Given the description of an element on the screen output the (x, y) to click on. 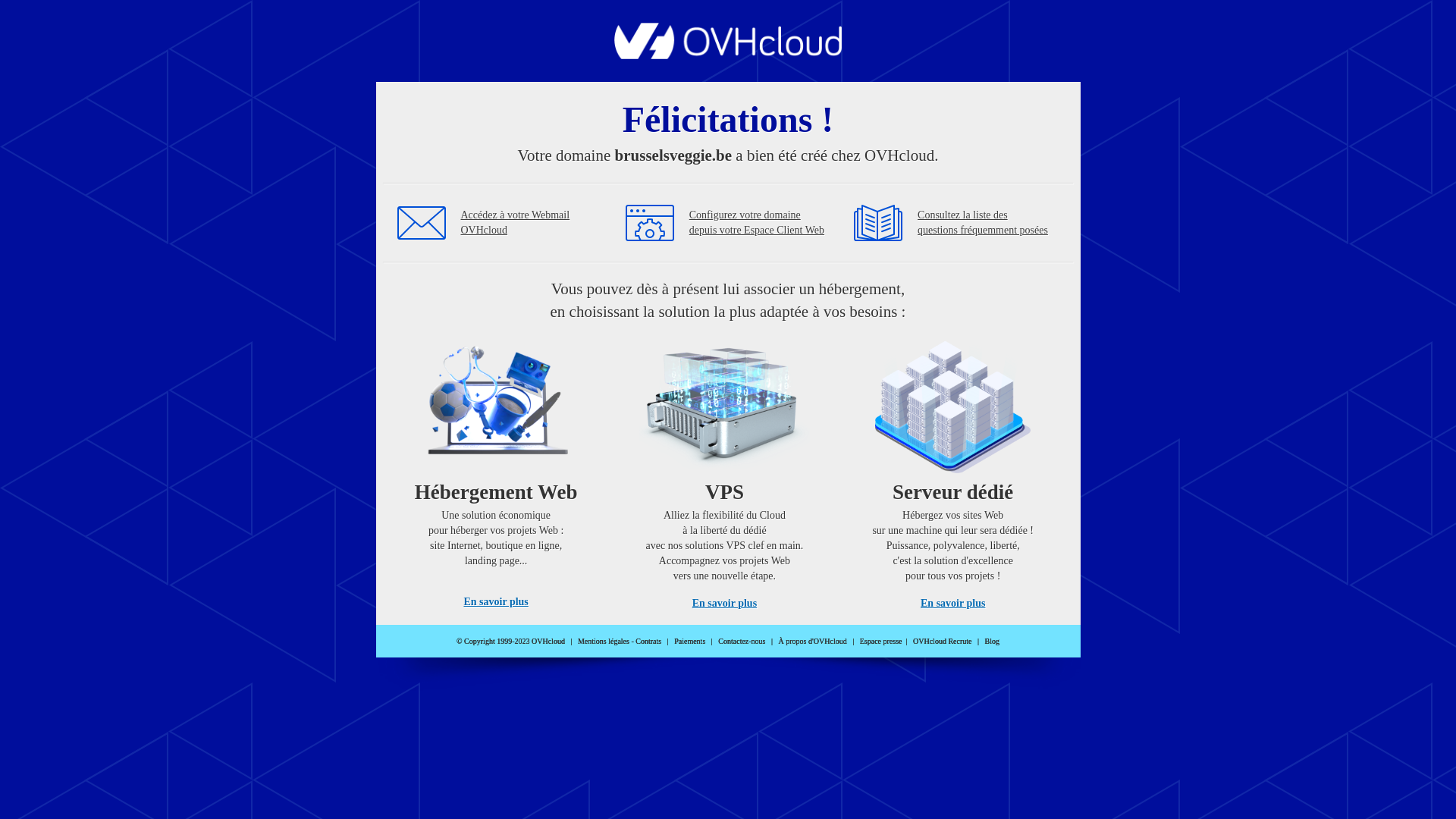
Contactez-nous Element type: text (741, 641)
En savoir plus Element type: text (495, 601)
En savoir plus Element type: text (952, 602)
OVHcloud Recrute Element type: text (942, 641)
Configurez votre domaine
depuis votre Espace Client Web Element type: text (756, 222)
OVHcloud Element type: hover (727, 54)
Paiements Element type: text (689, 641)
VPS Element type: hover (724, 469)
Blog Element type: text (992, 641)
En savoir plus Element type: text (724, 602)
Espace presse Element type: text (880, 641)
